Given the description of an element on the screen output the (x, y) to click on. 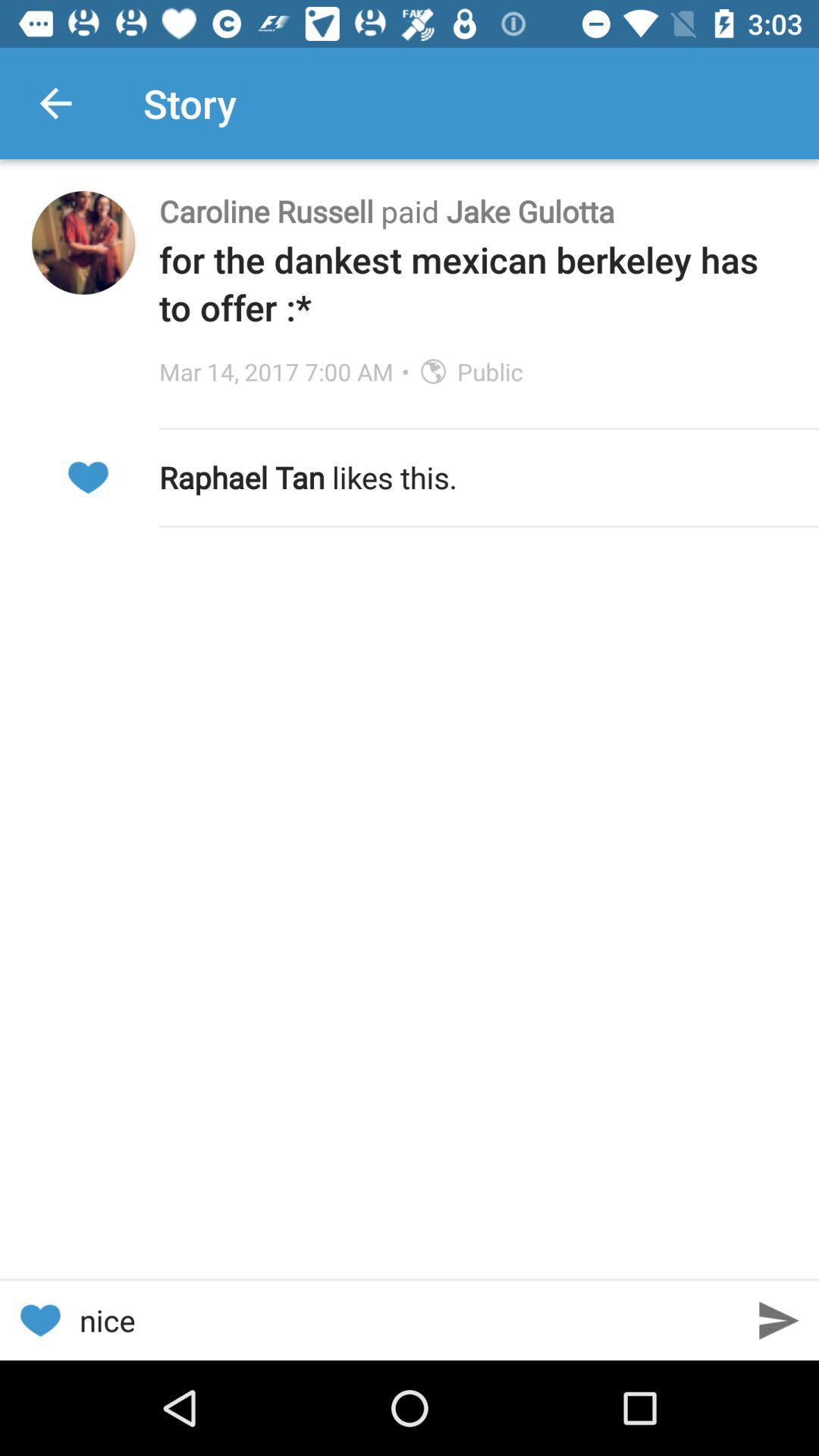
like button (87, 477)
